Given the description of an element on the screen output the (x, y) to click on. 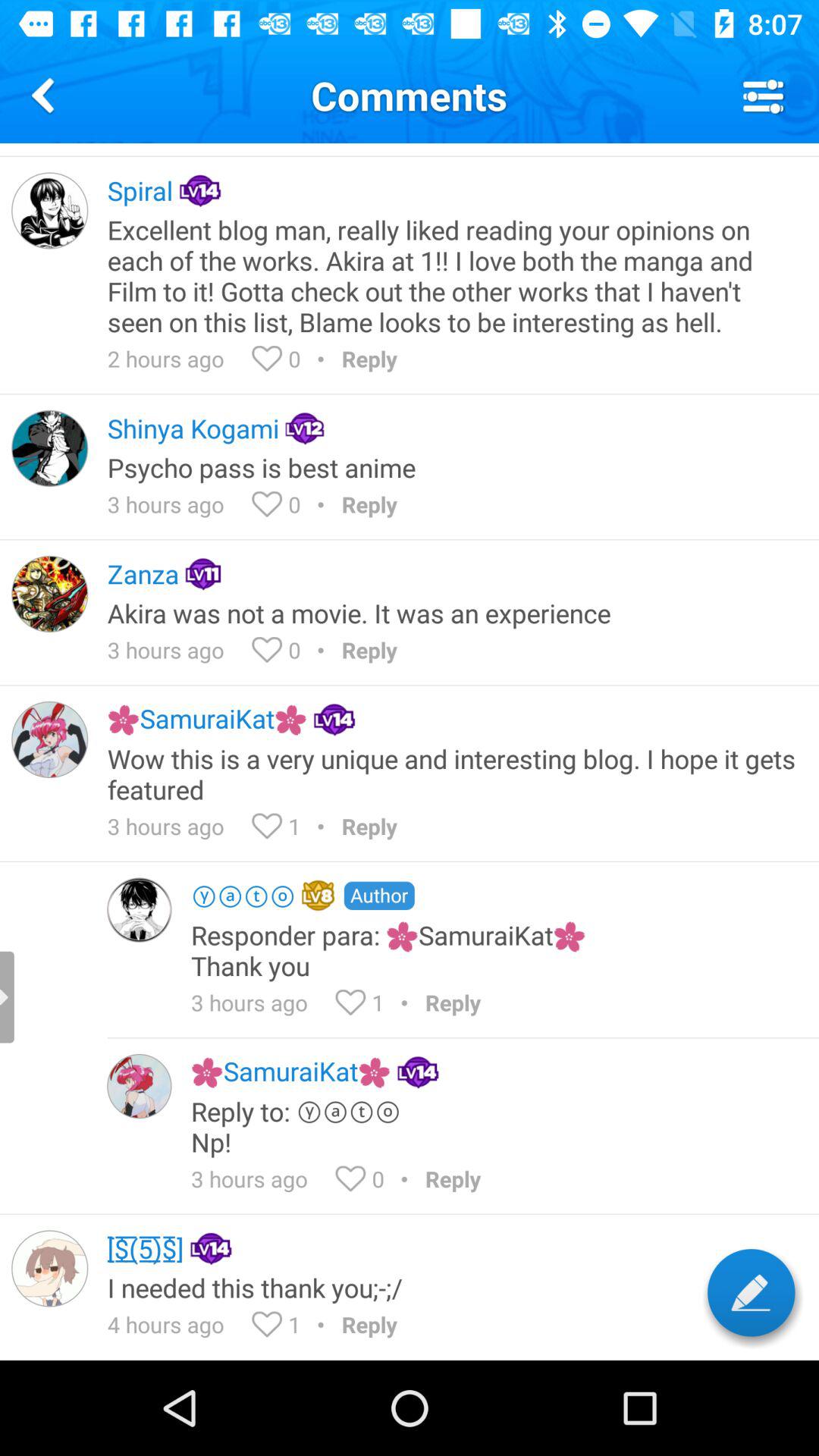
scroll to responder para samuraikat (495, 950)
